Given the description of an element on the screen output the (x, y) to click on. 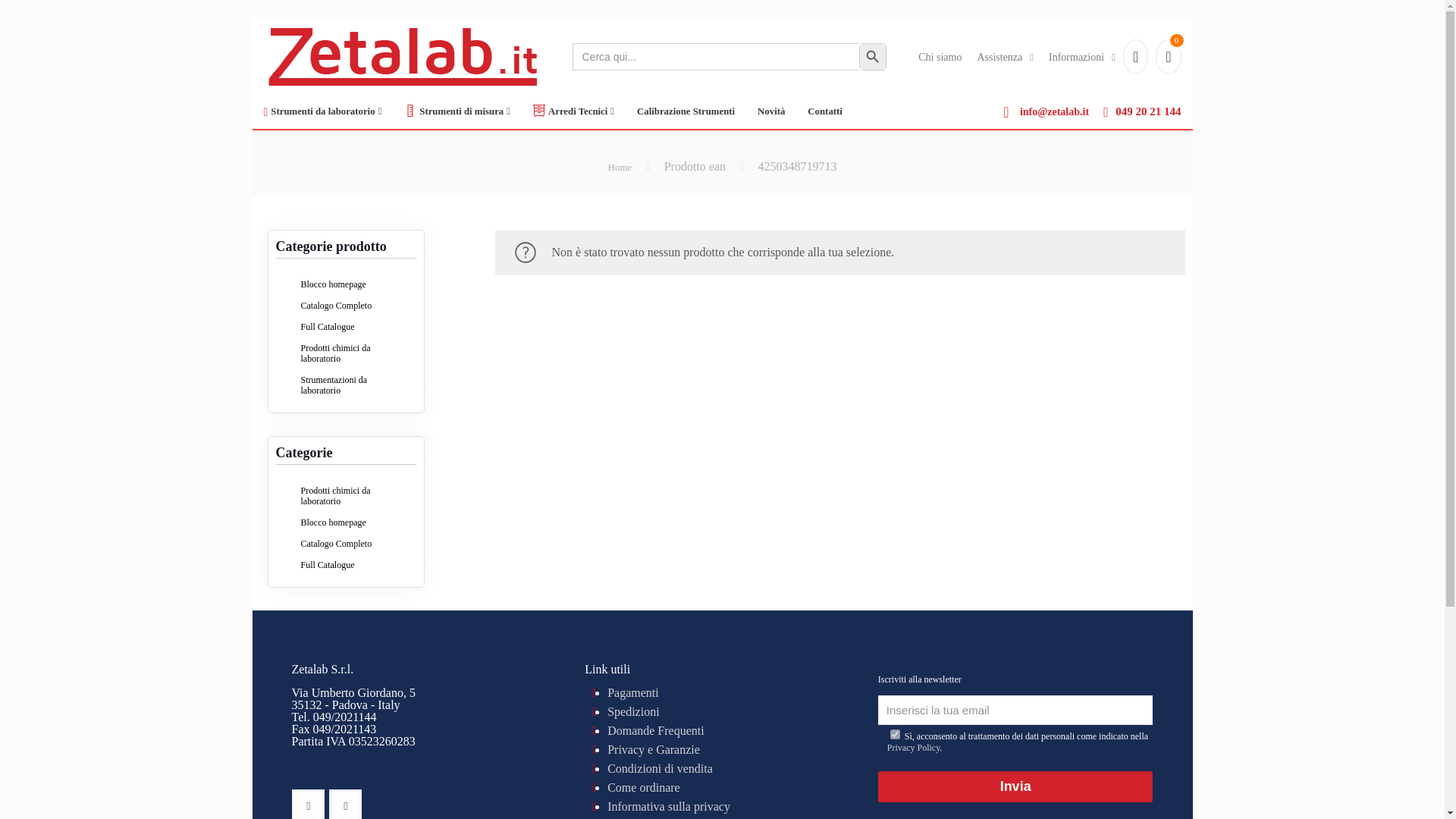
1 (894, 734)
Strumenti da laboratorio (322, 111)
Assistenza (1004, 56)
Search Button (872, 56)
Chi siamo (939, 56)
Invia (1015, 786)
Informazioni (1081, 56)
